Given the description of an element on the screen output the (x, y) to click on. 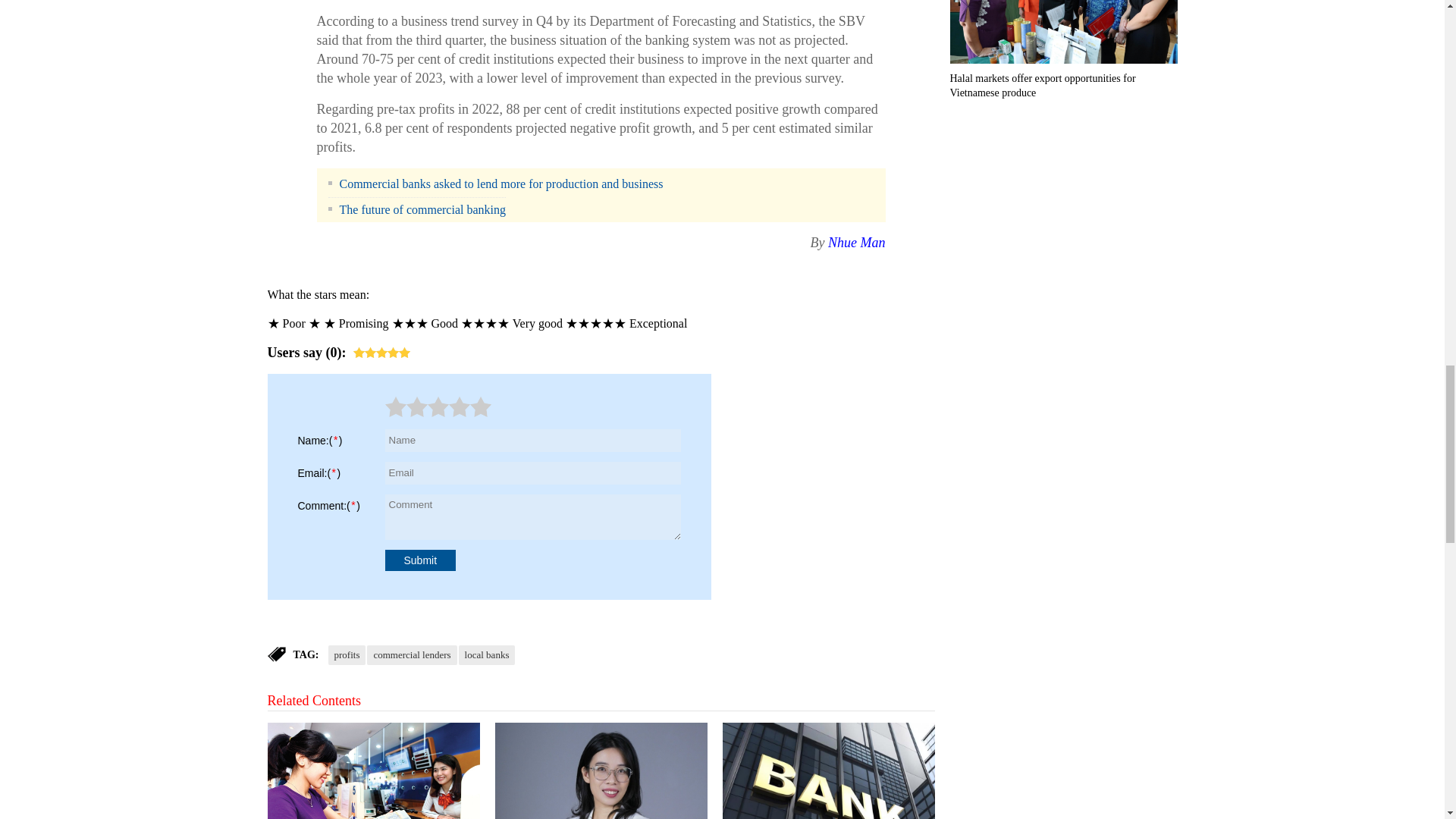
The future of commercial banking (416, 207)
local banks (486, 655)
Asset quality notable in banks (600, 770)
commercial lenders (411, 655)
profits (346, 655)
